Given the description of an element on the screen output the (x, y) to click on. 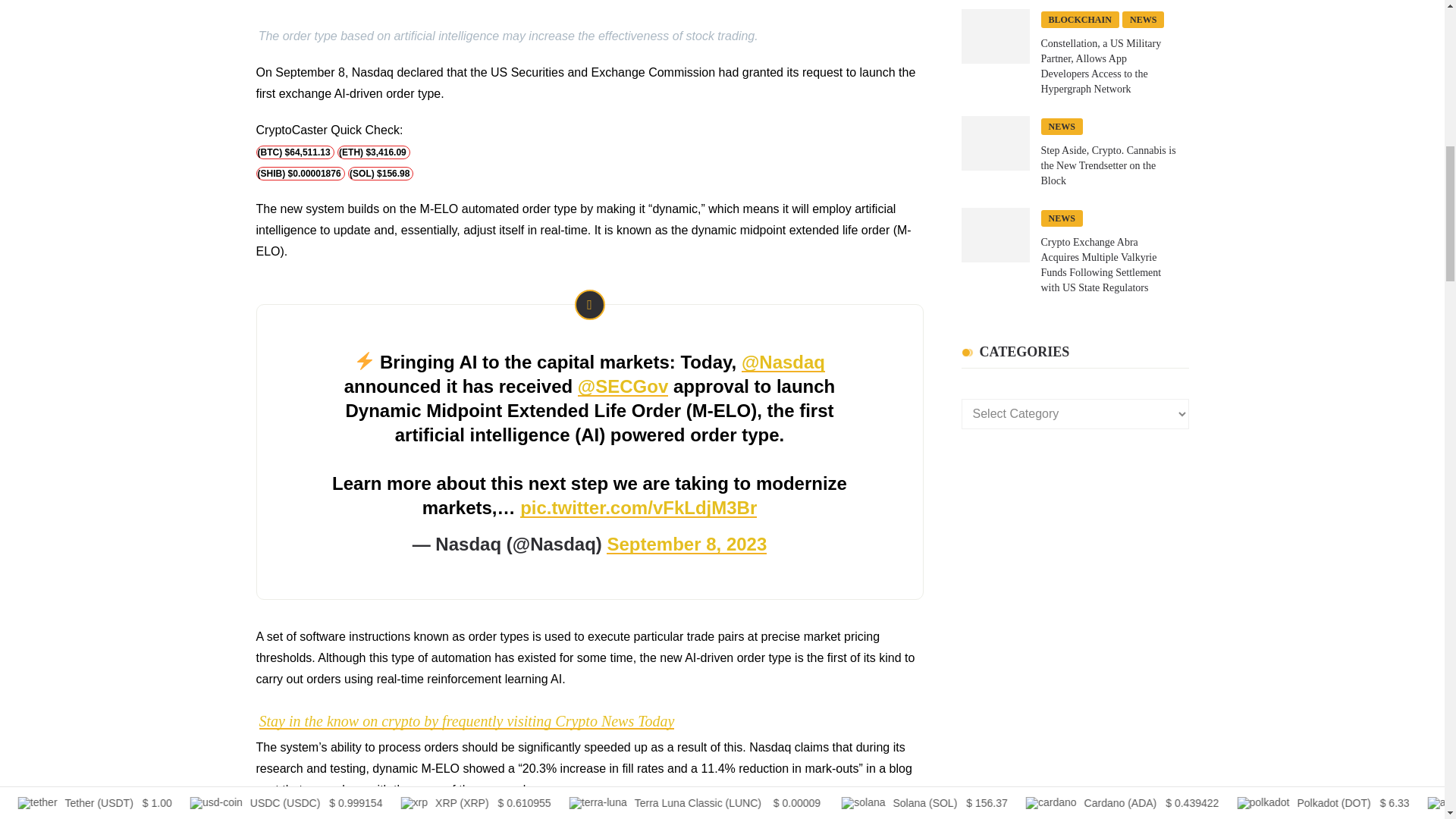
September 8, 2023 (687, 543)
